Given the description of an element on the screen output the (x, y) to click on. 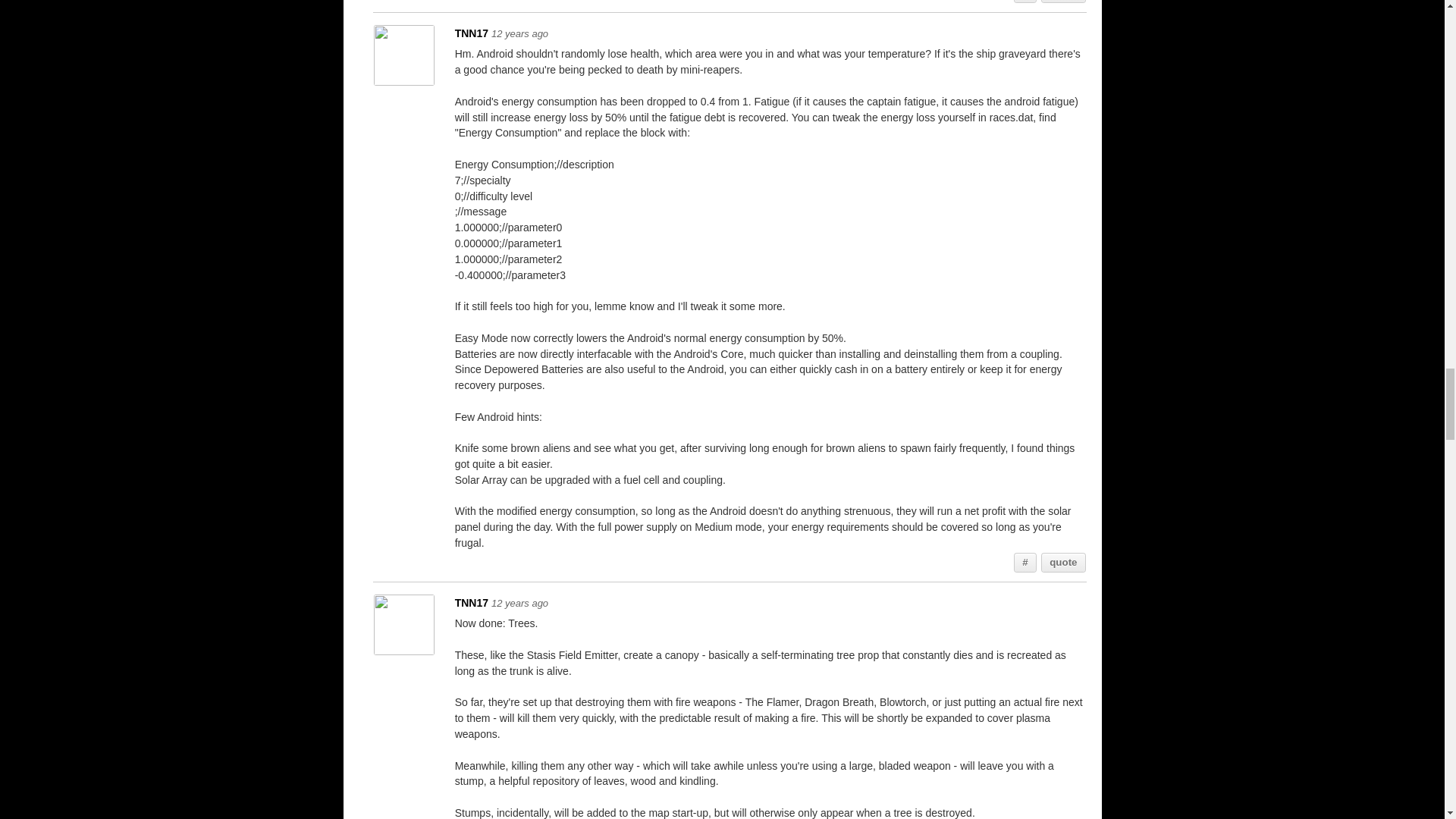
Link to this post (1024, 562)
Link to this post (1024, 1)
